Given the description of an element on the screen output the (x, y) to click on. 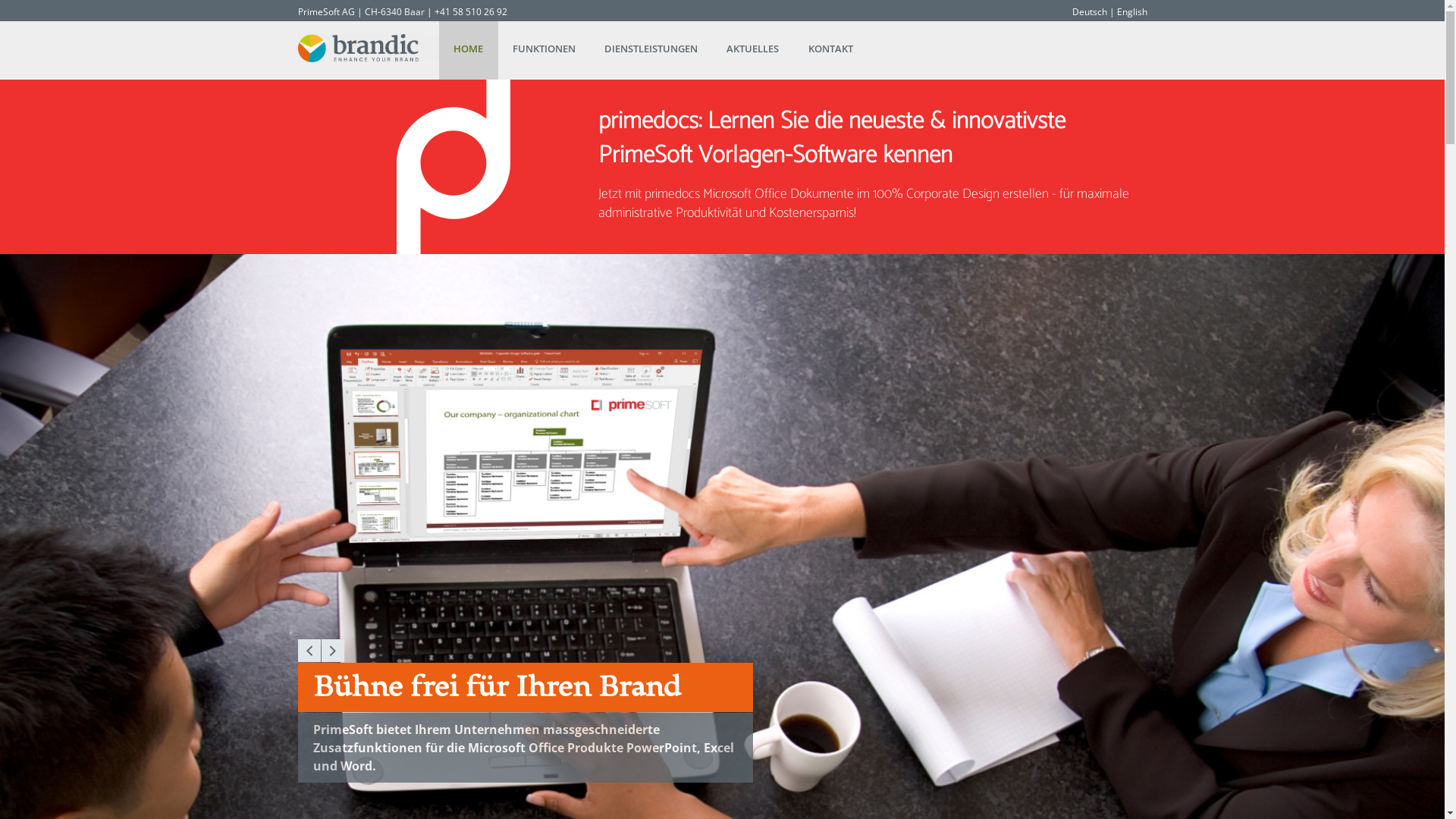
Deutsch | Element type: text (1093, 11)
DIENSTLEISTUNGEN Element type: text (650, 50)
PrimeSoft AG Element type: text (325, 11)
KONTAKT Element type: text (830, 50)
HOME Element type: text (468, 50)
English Element type: text (1131, 11)
AKTUELLES Element type: text (752, 50)
FUNKTIONEN Element type: text (543, 50)
